Given the description of an element on the screen output the (x, y) to click on. 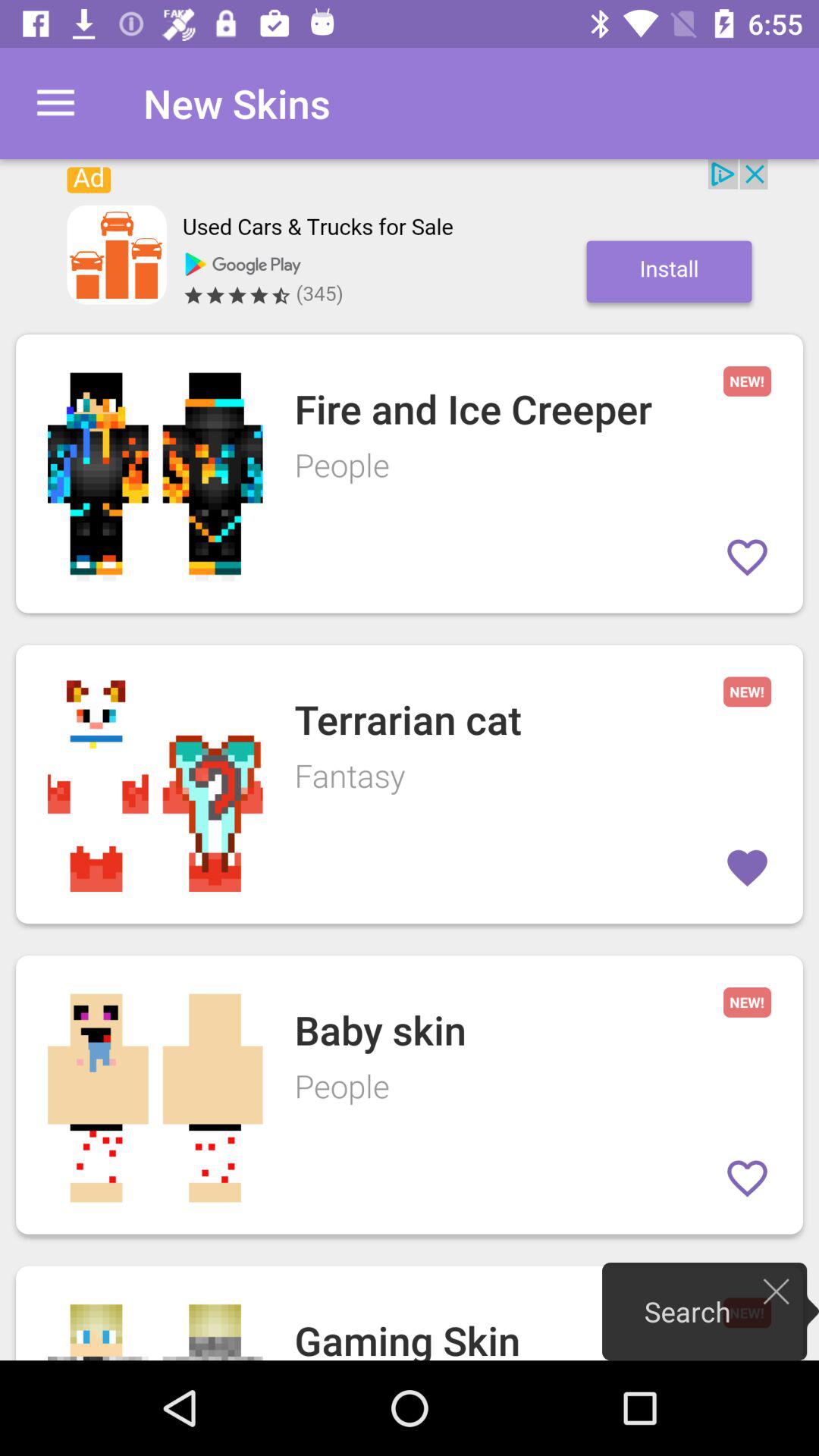
make favorite skin (747, 557)
